Given the description of an element on the screen output the (x, y) to click on. 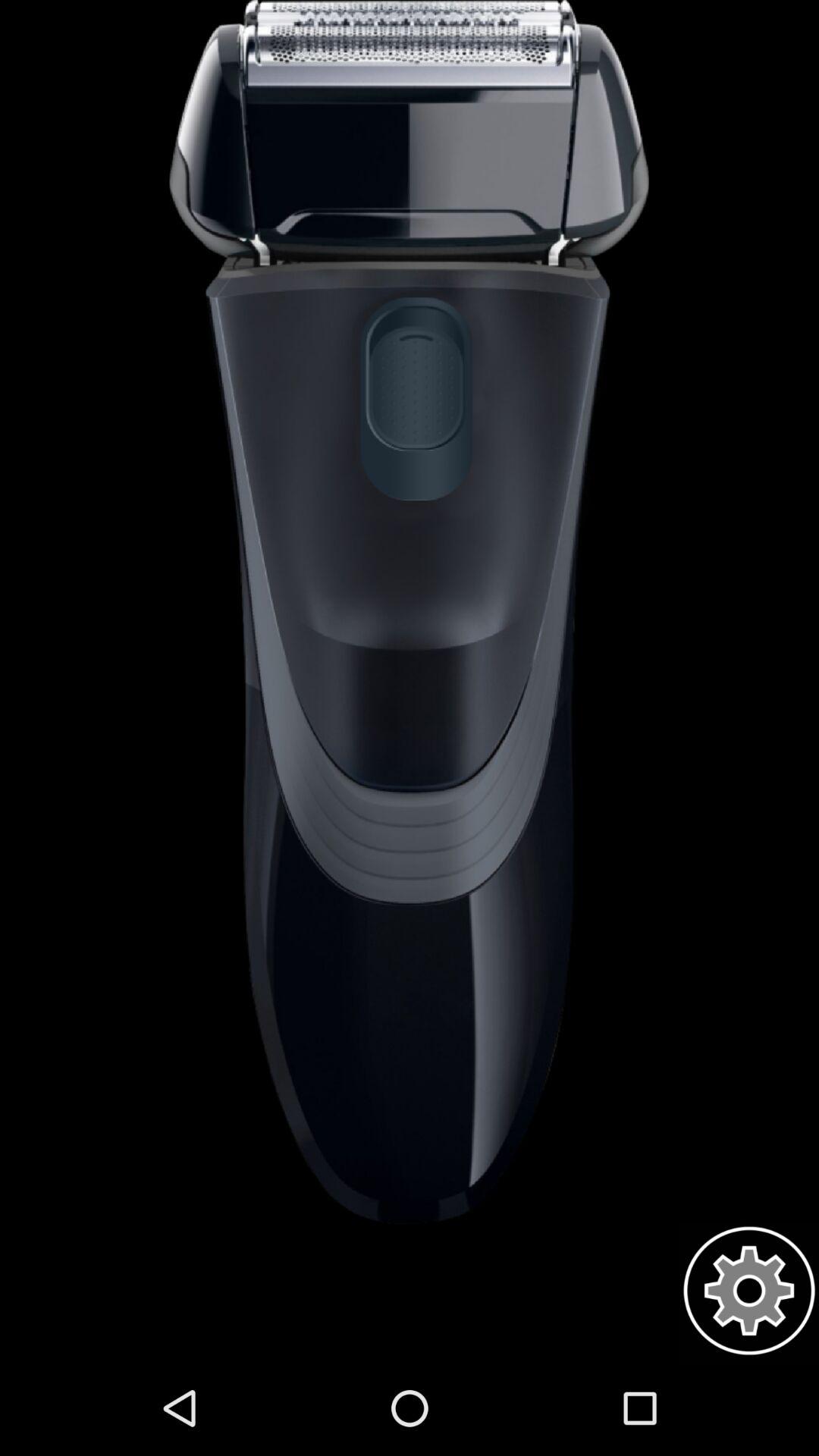
settings (749, 1290)
